Given the description of an element on the screen output the (x, y) to click on. 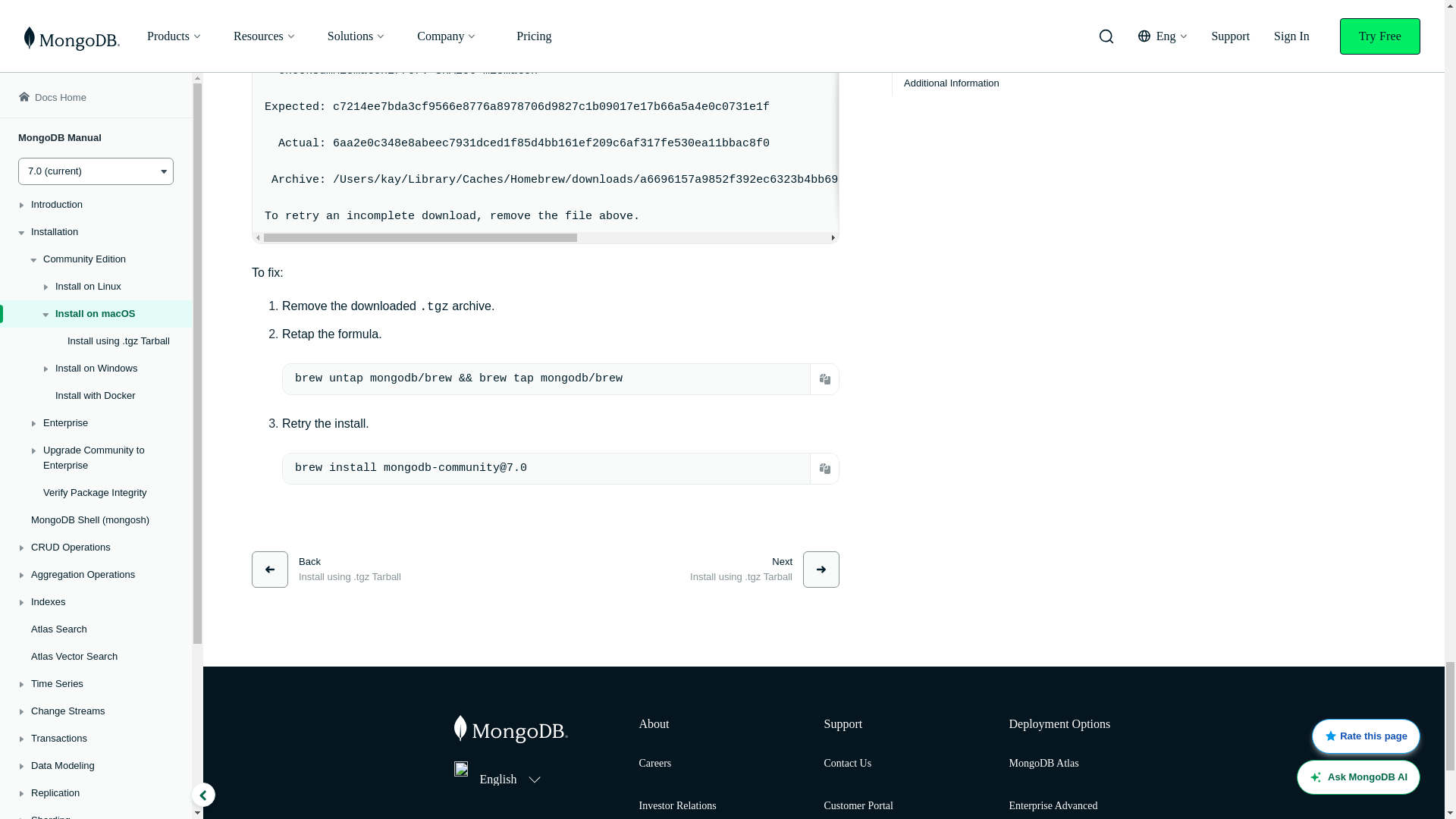
Next Section (765, 569)
Previous Section (326, 569)
